Given the description of an element on the screen output the (x, y) to click on. 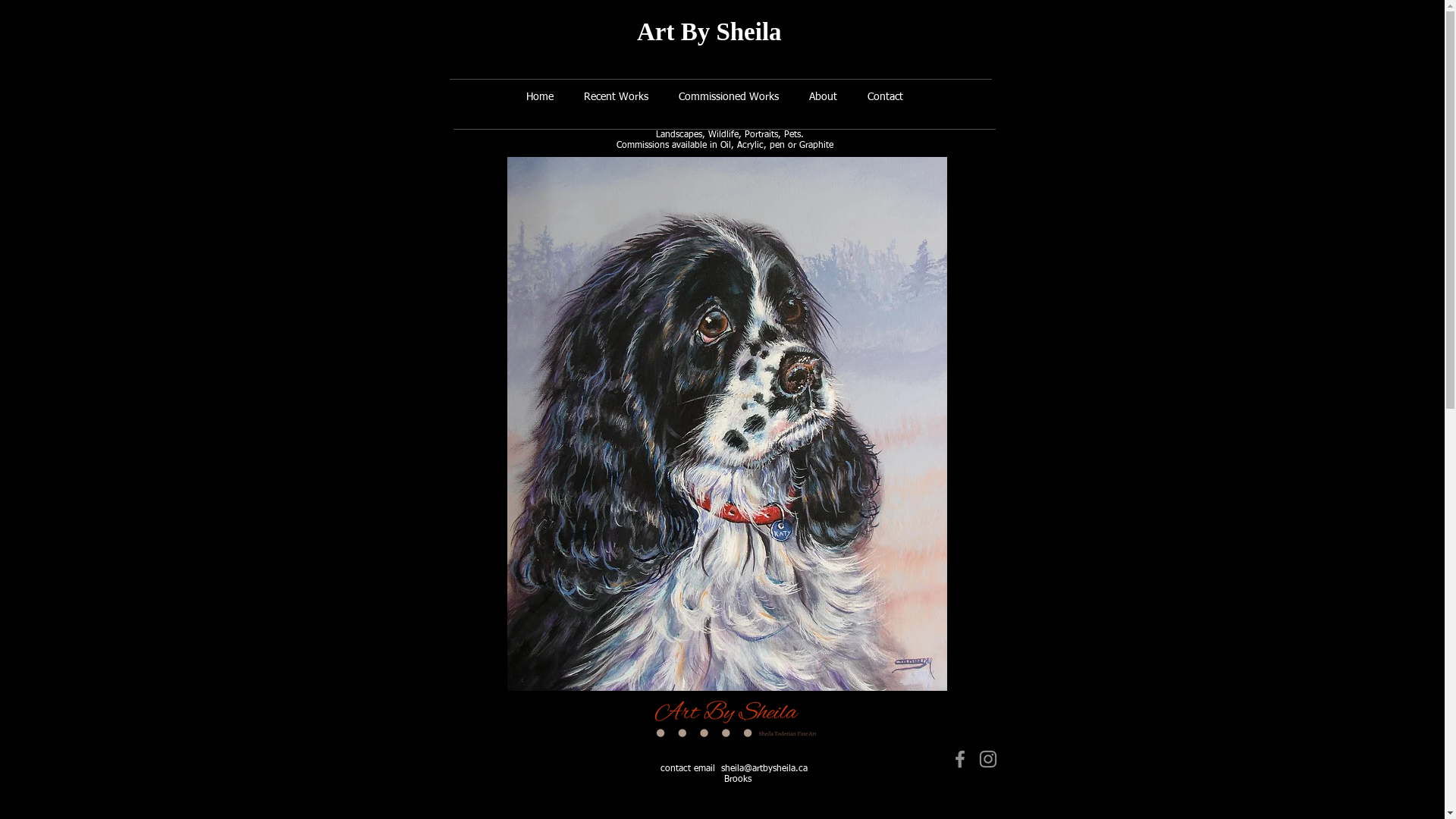
Home Element type: text (539, 96)
Contact Element type: text (885, 96)
About Element type: text (822, 96)
Recent Works Element type: text (615, 96)
sheila@artbysheila.ca Element type: text (763, 768)
Commissioned Works Element type: text (727, 96)
